Given the description of an element on the screen output the (x, y) to click on. 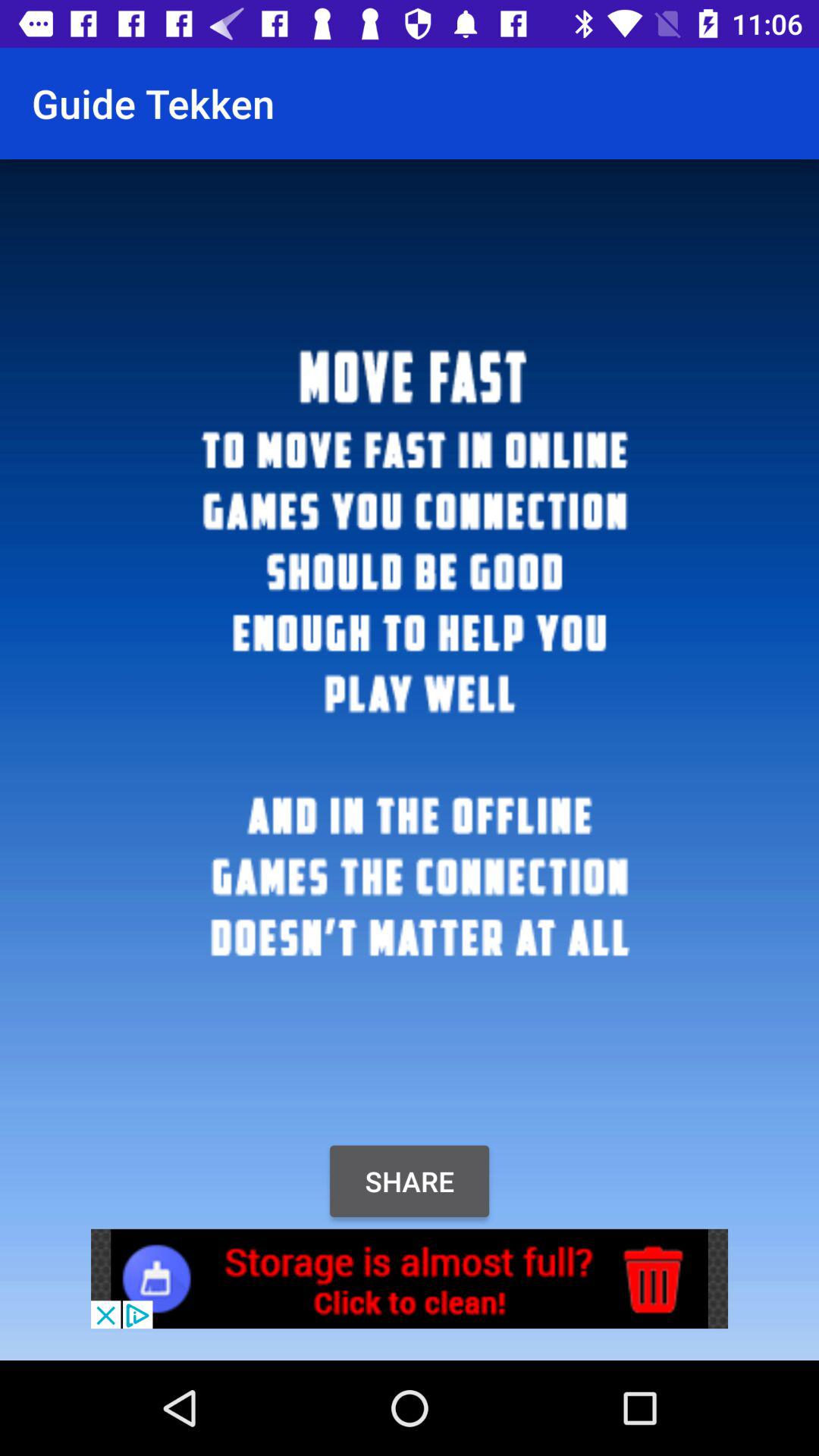
go to storage (409, 1278)
